Given the description of an element on the screen output the (x, y) to click on. 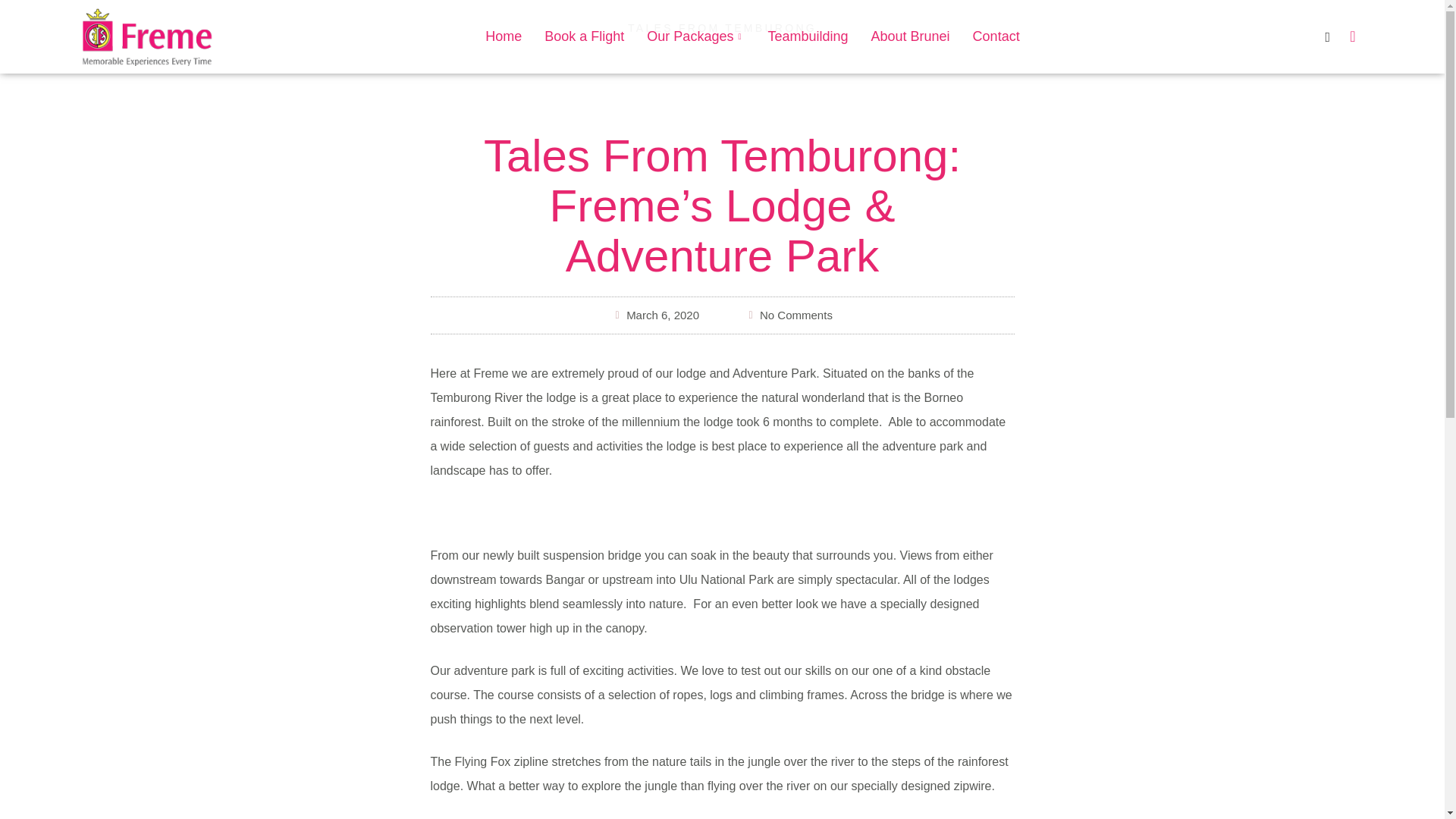
About Brunei (910, 36)
Our Packages (694, 36)
Contact (995, 36)
March 6, 2020 (654, 315)
TALES FROM TEMBURONG (721, 28)
Book a Flight (583, 36)
No Comments (788, 315)
Home (503, 36)
Teambuilding (807, 36)
